Given the description of an element on the screen output the (x, y) to click on. 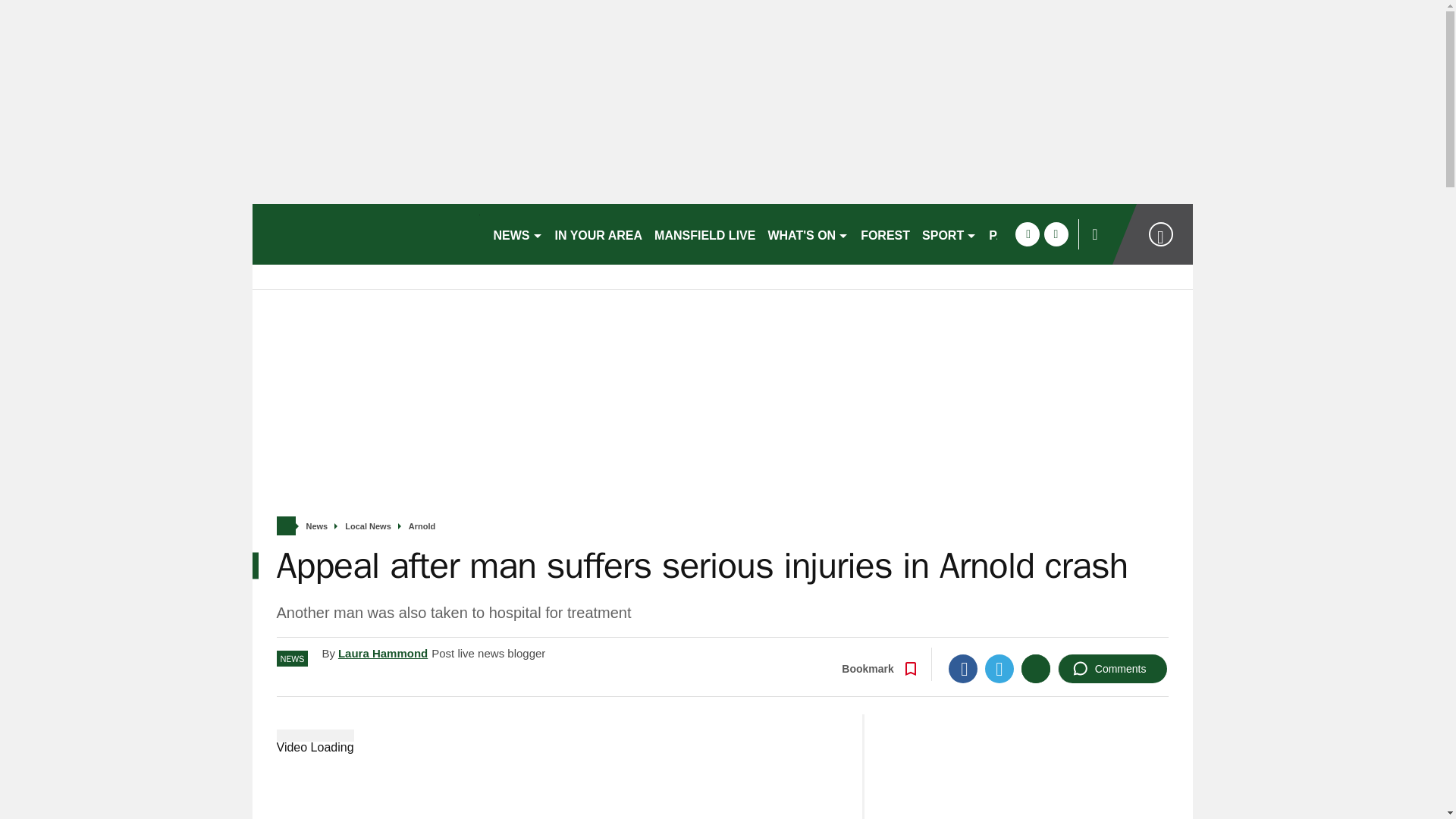
SPORT (948, 233)
WHAT'S ON (807, 233)
FOREST (884, 233)
nottinghampost (365, 233)
NEWS (517, 233)
Comments (1112, 668)
IN YOUR AREA (598, 233)
PARTNER STORIES (1045, 233)
facebook (1026, 233)
Facebook (962, 668)
Twitter (999, 668)
twitter (1055, 233)
MANSFIELD LIVE (704, 233)
